Given the description of an element on the screen output the (x, y) to click on. 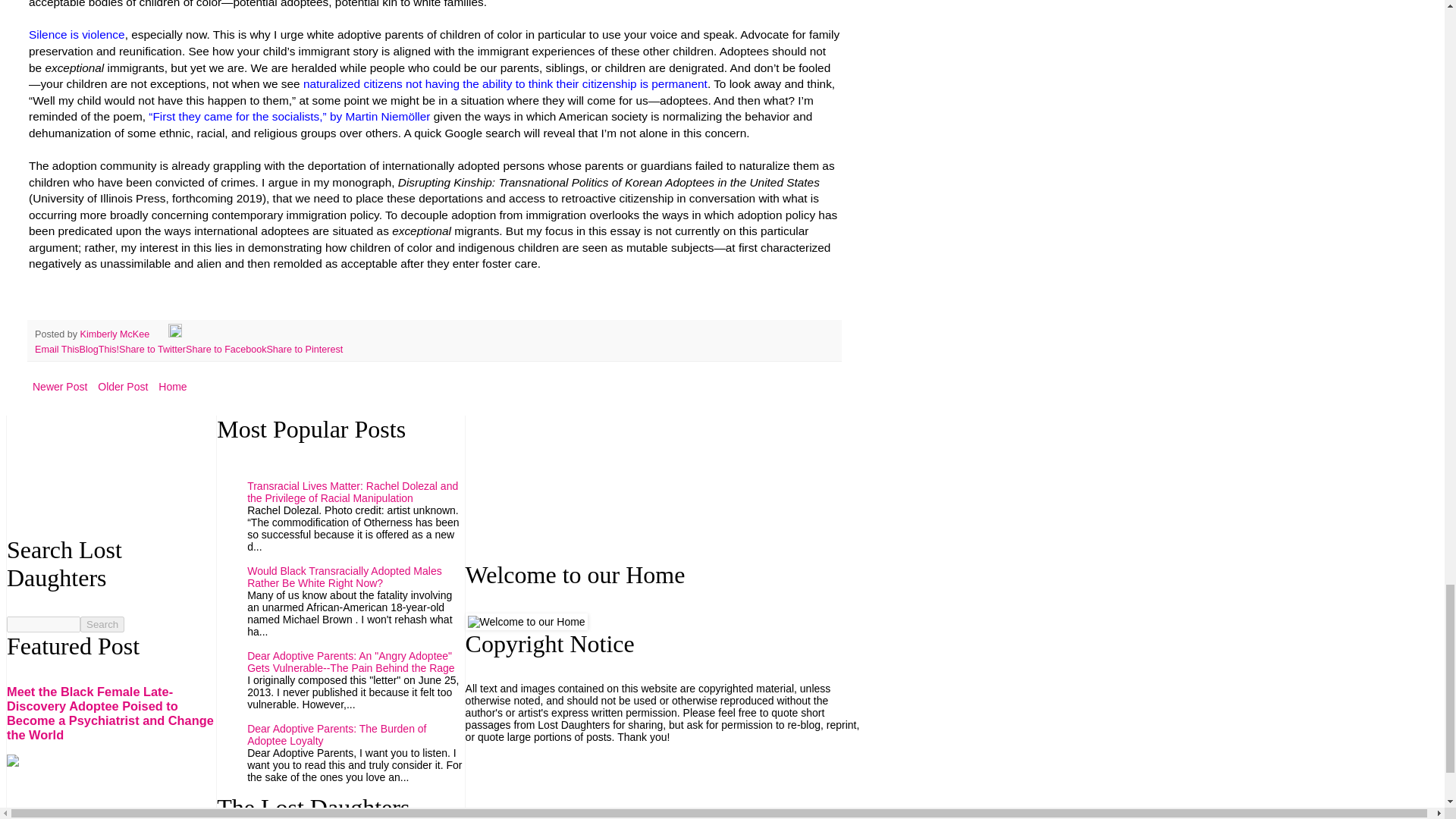
Share to Facebook (226, 348)
Edit Post (175, 334)
Search (101, 624)
Email This (57, 348)
search (101, 624)
Share to Twitter (152, 348)
BlogThis! (99, 348)
Search (101, 624)
Newer Post (59, 386)
Share to Pinterest (304, 348)
Email Post (160, 334)
search (43, 624)
Older Post (122, 386)
author profile (116, 334)
